Given the description of an element on the screen output the (x, y) to click on. 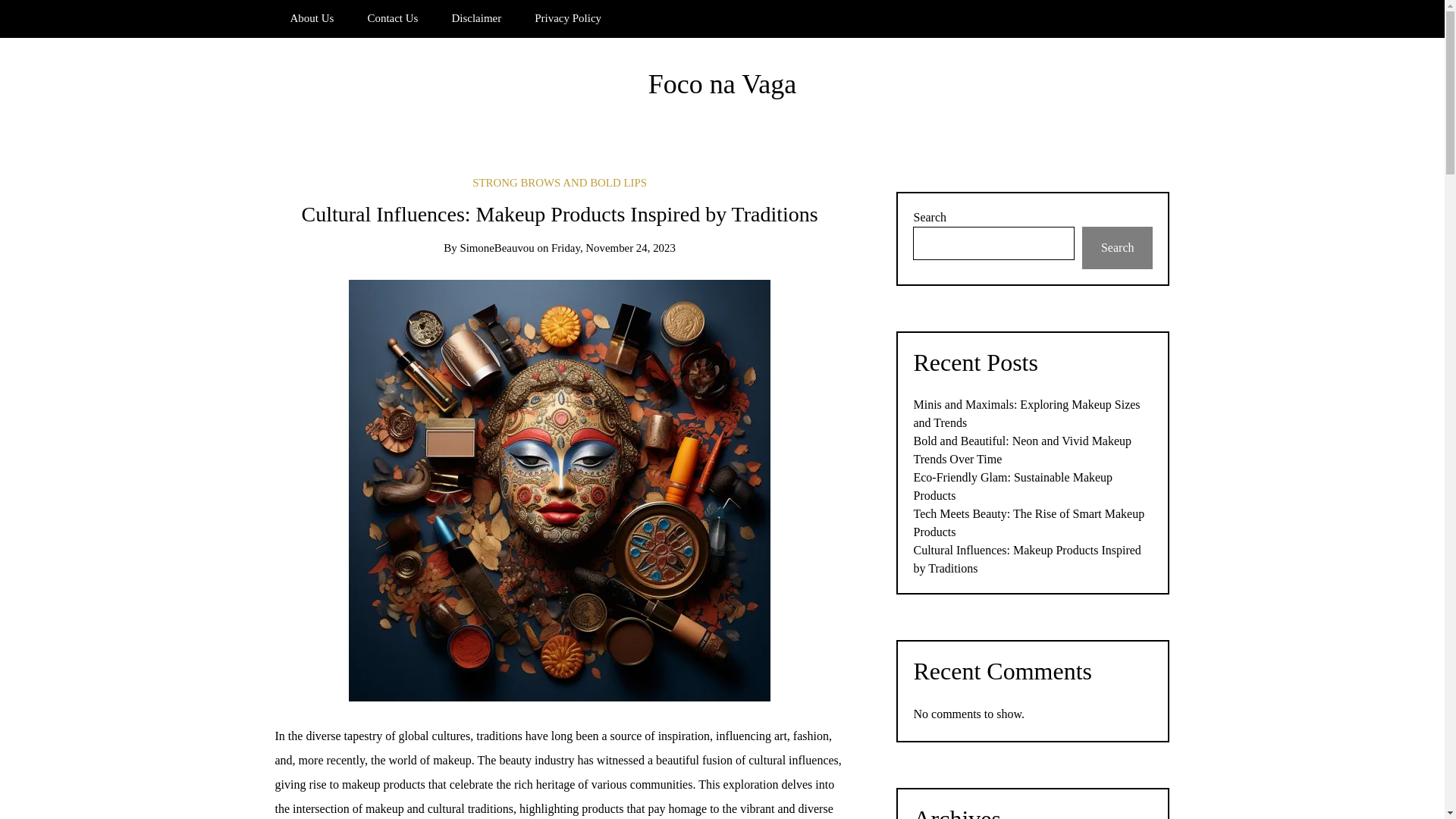
Cultural Influences: Makeup Products Inspired by Traditions (1026, 558)
Disclaimer (475, 18)
Foco na Vaga (721, 83)
Bold and Beautiful: Neon and Vivid Makeup Trends Over Time (1021, 450)
Friday, November 24, 2023 (613, 247)
Minis and Maximals: Exploring Makeup Sizes and Trends (1026, 413)
About Us (312, 18)
Tech Meets Beauty: The Rise of Smart Makeup Products (1028, 522)
Posts by SimoneBeauvou (497, 247)
